Given the description of an element on the screen output the (x, y) to click on. 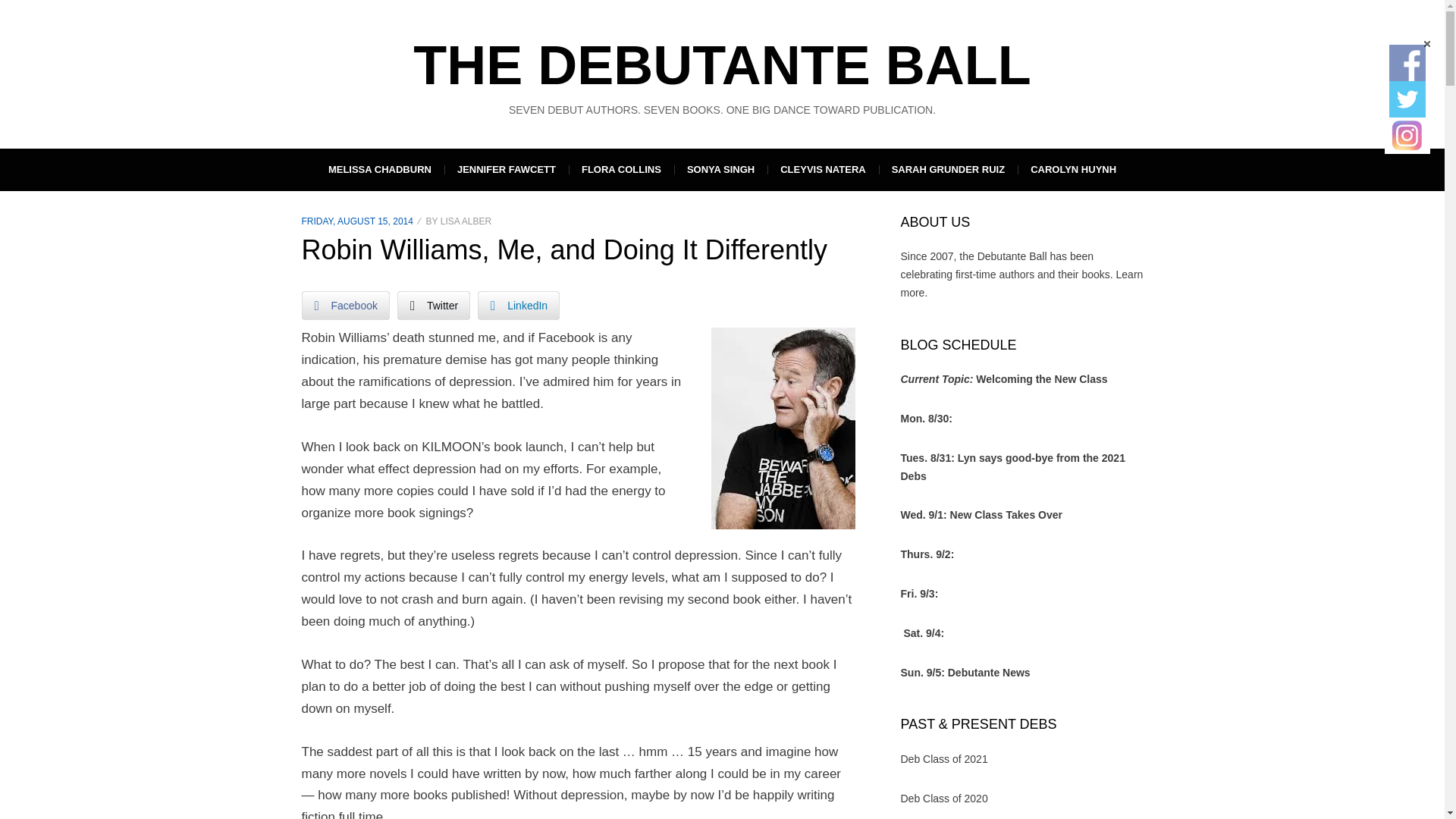
FLORA COLLINS (621, 169)
MELISSA CHADBURN (379, 169)
CAROLYN HUYNH (1073, 169)
SARAH GRUNDER RUIZ (948, 169)
hide (1426, 43)
FRIDAY, AUGUST 15, 2014 (357, 221)
THE DEBUTANTE BALL (721, 65)
Twitter (433, 305)
View Our Twitter Feed (1407, 99)
CLEYVIS NATERA (822, 169)
LinkedIn (518, 305)
JENNIFER FAWCETT (506, 169)
SONYA SINGH (720, 169)
The Debutante Ball (721, 65)
LISA ALBER (466, 221)
